Given the description of an element on the screen output the (x, y) to click on. 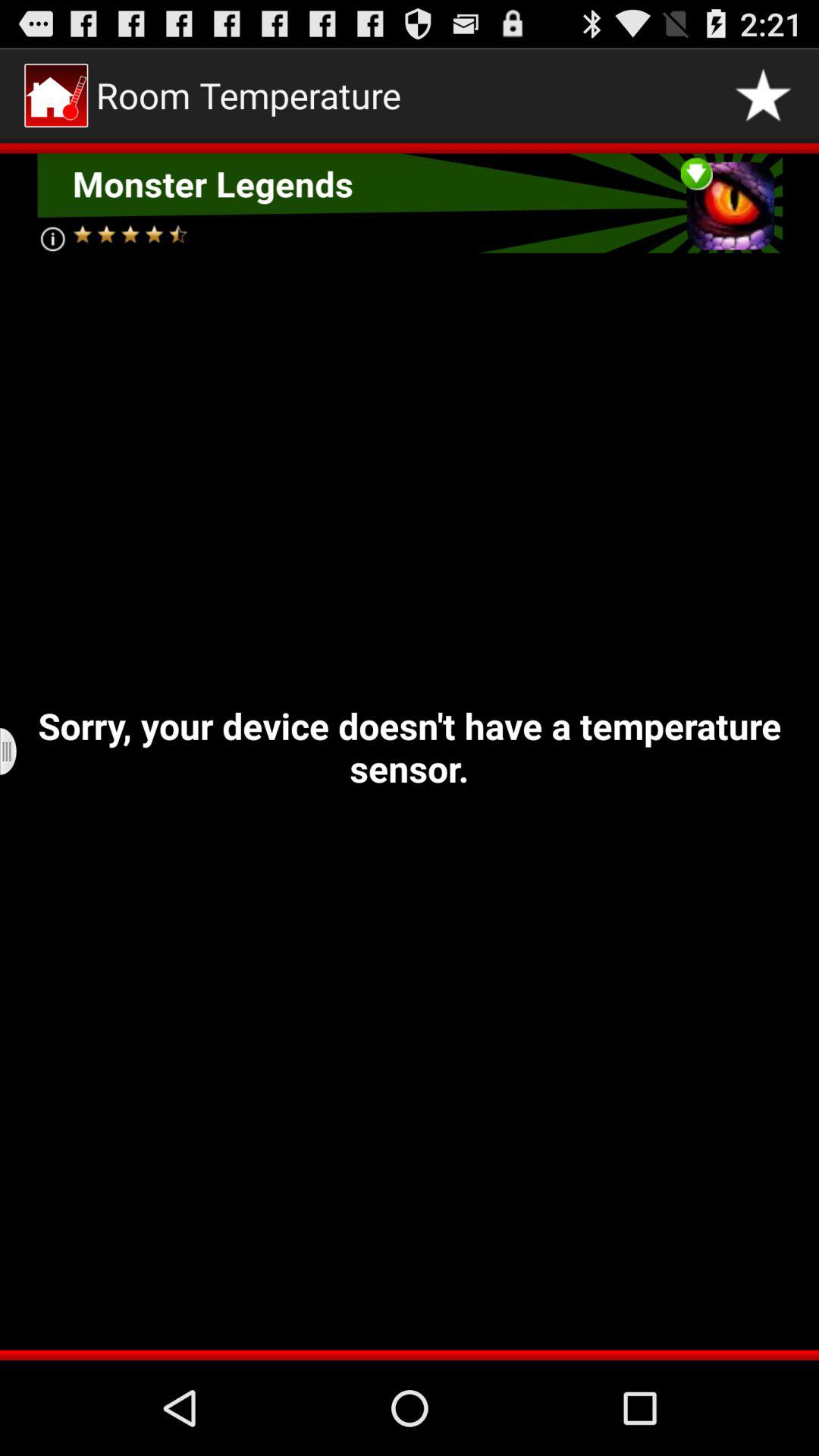
turn off the item on the left (18, 751)
